Given the description of an element on the screen output the (x, y) to click on. 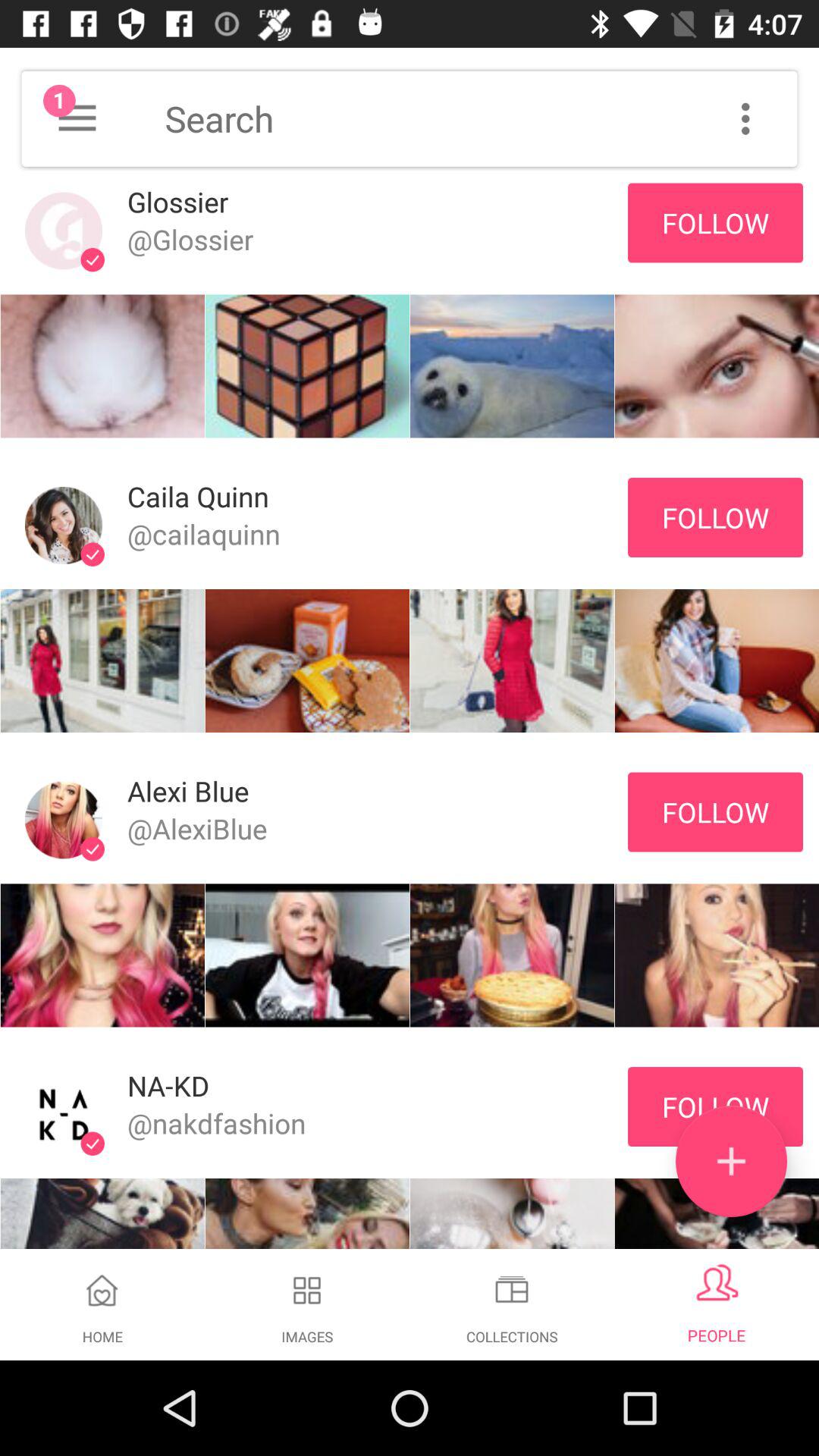
notifications (77, 118)
